Given the description of an element on the screen output the (x, y) to click on. 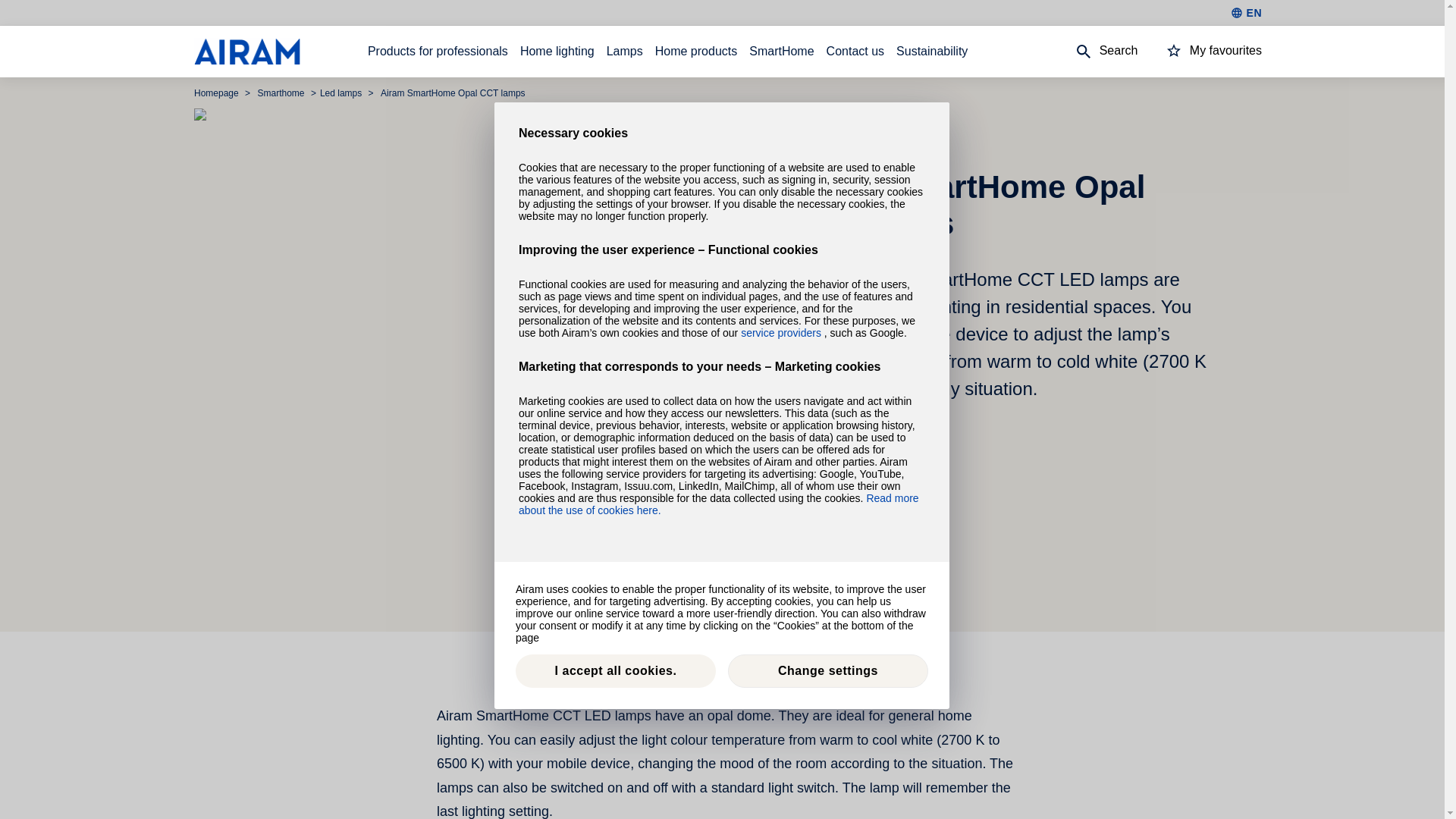
EN (1246, 12)
Led lamps (342, 92)
SmartHome (781, 51)
Search (1091, 51)
Contact us (855, 51)
Home lighting (556, 51)
Search (1091, 51)
My favourites (1199, 51)
Home products (696, 51)
Products for professionals (438, 51)
